Given the description of an element on the screen output the (x, y) to click on. 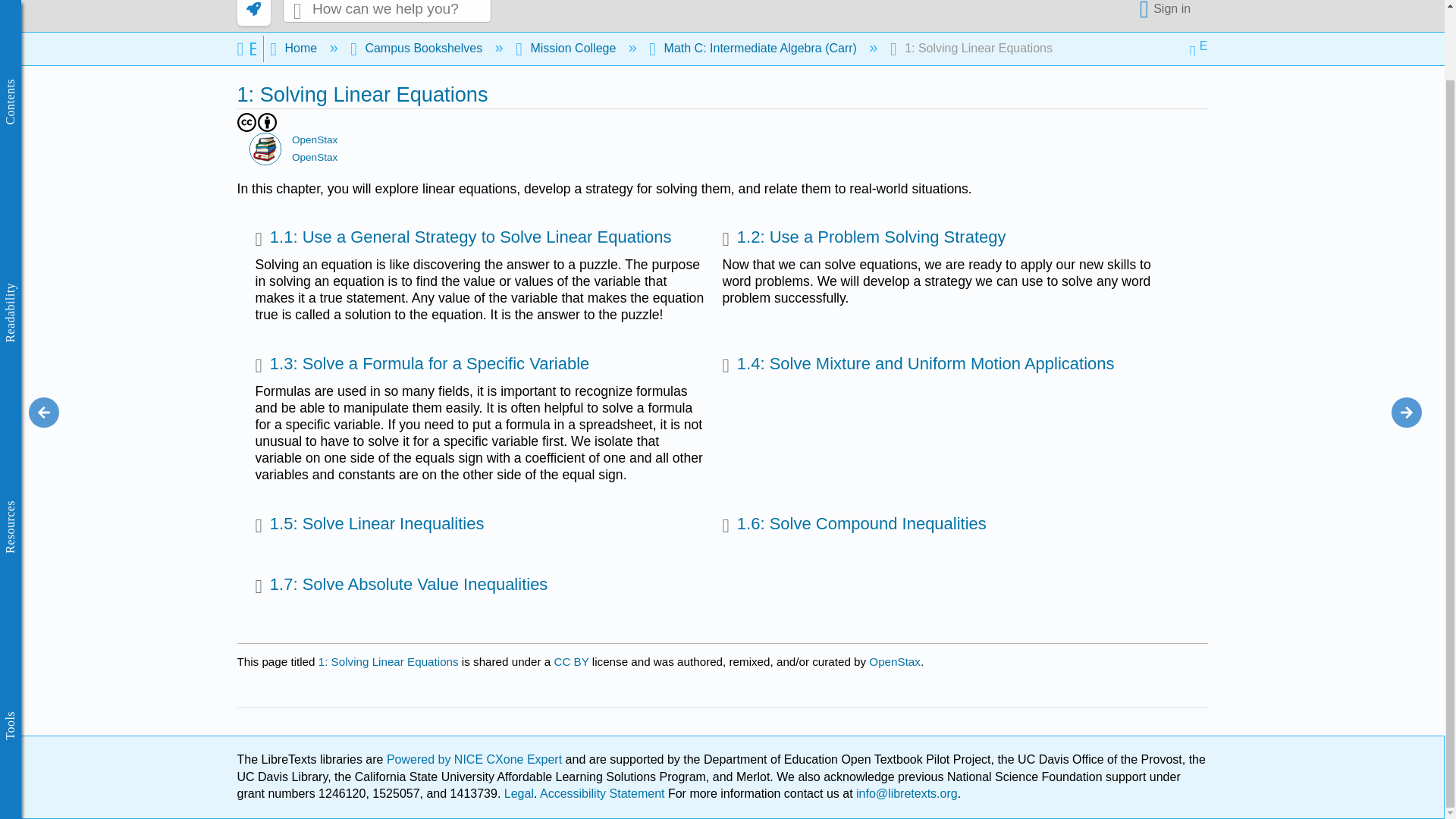
Single Sign-On (1167, 11)
1.3: Solve a Formula for a Specific Variable (421, 365)
1.1: Use a General Strategy to Solve Linear Equations (462, 239)
1.2: Use a Problem Solving Strategy (864, 239)
OpenStax (265, 148)
BY (266, 122)
CC (246, 122)
